Given the description of an element on the screen output the (x, y) to click on. 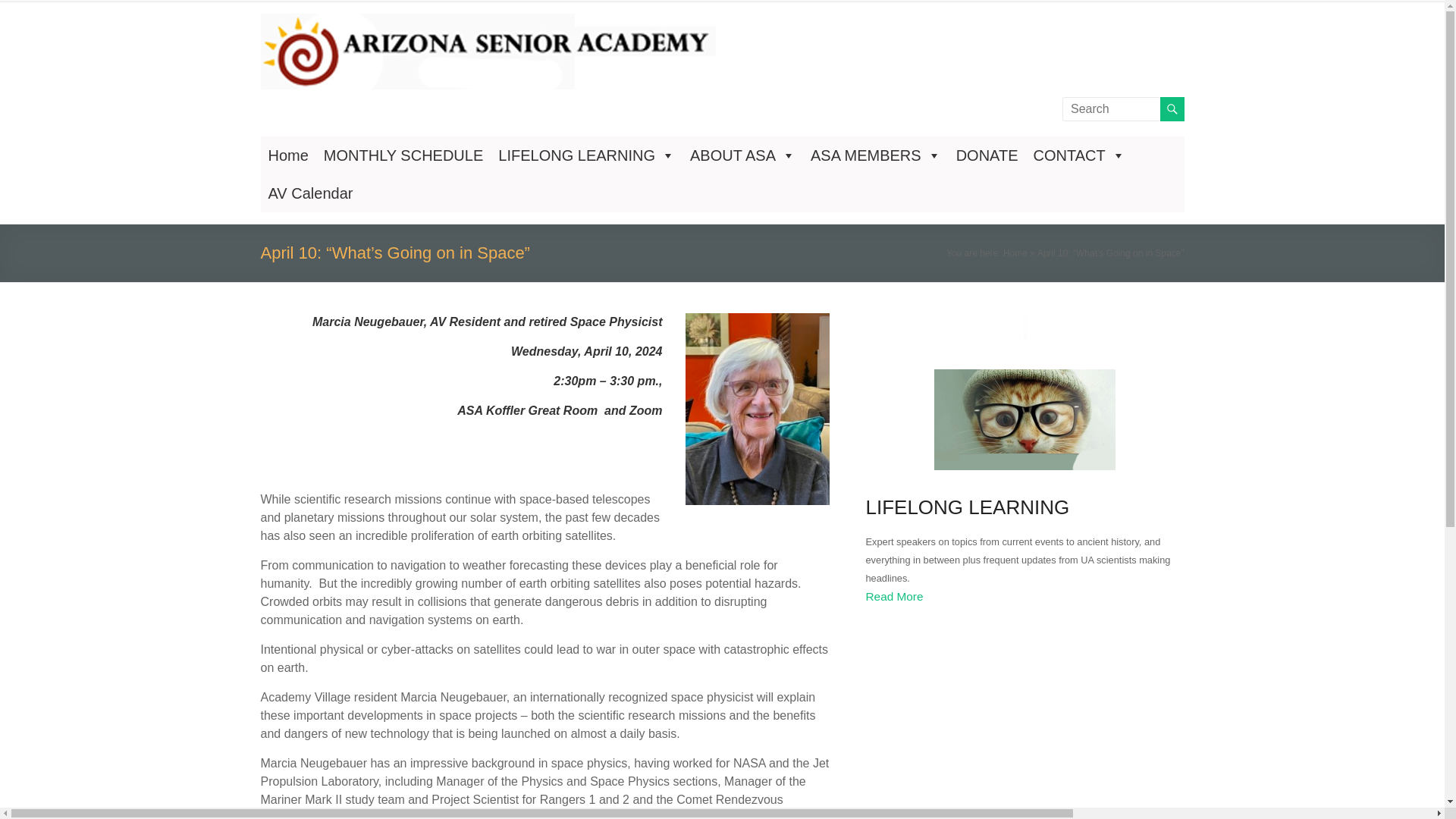
Home (287, 155)
Arizona Senior Academy (315, 62)
LIFELONG LEARNING (586, 155)
MONTHLY SCHEDULE (402, 155)
ABOUT ASA (742, 155)
Arizona Senior Academy (315, 62)
